Given the description of an element on the screen output the (x, y) to click on. 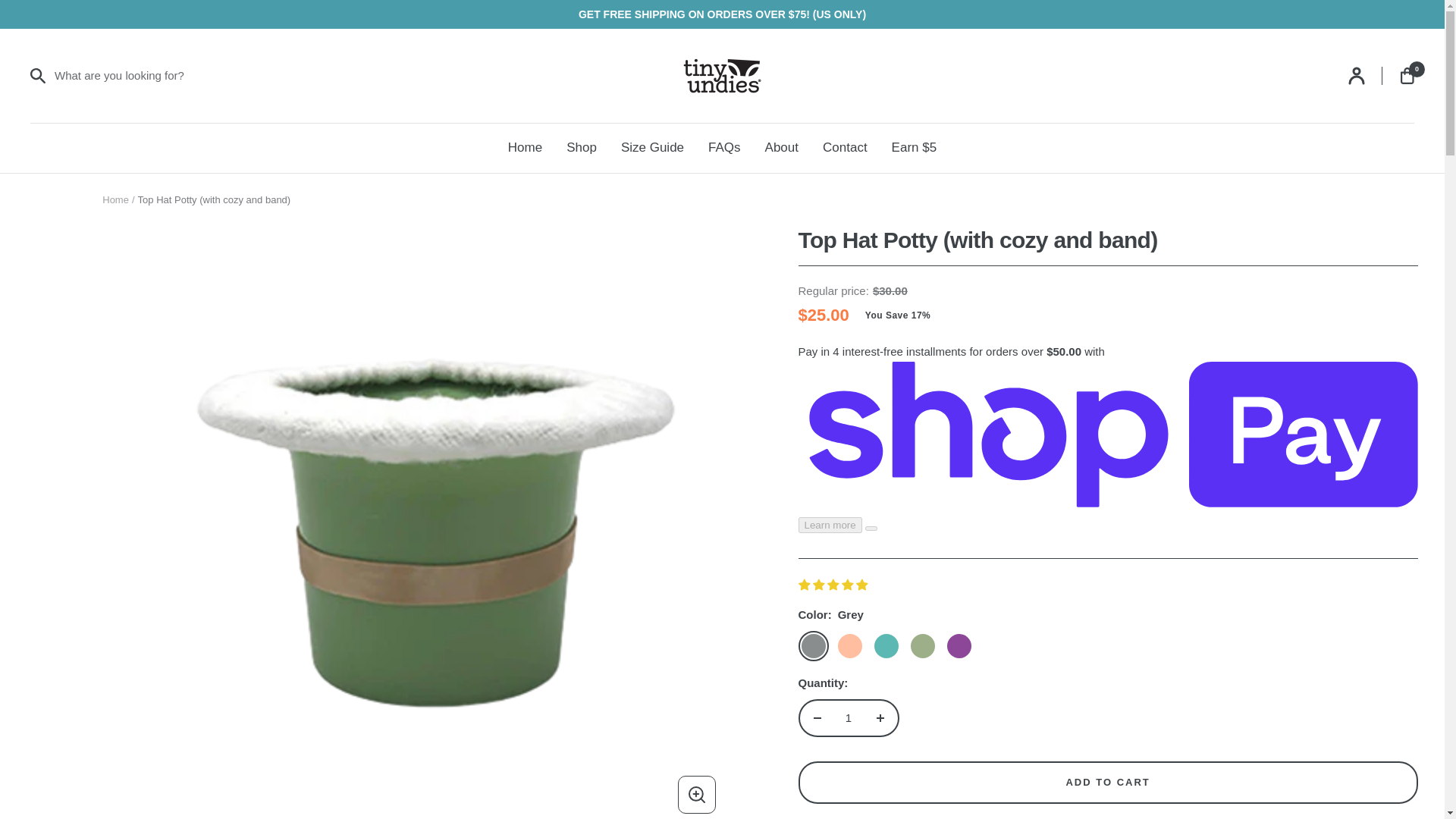
Home (524, 147)
Home (115, 199)
Shop (581, 147)
Contact (844, 147)
Zoom (696, 794)
About (781, 147)
Tiny Undies (722, 75)
FAQs (724, 147)
